Given the description of an element on the screen output the (x, y) to click on. 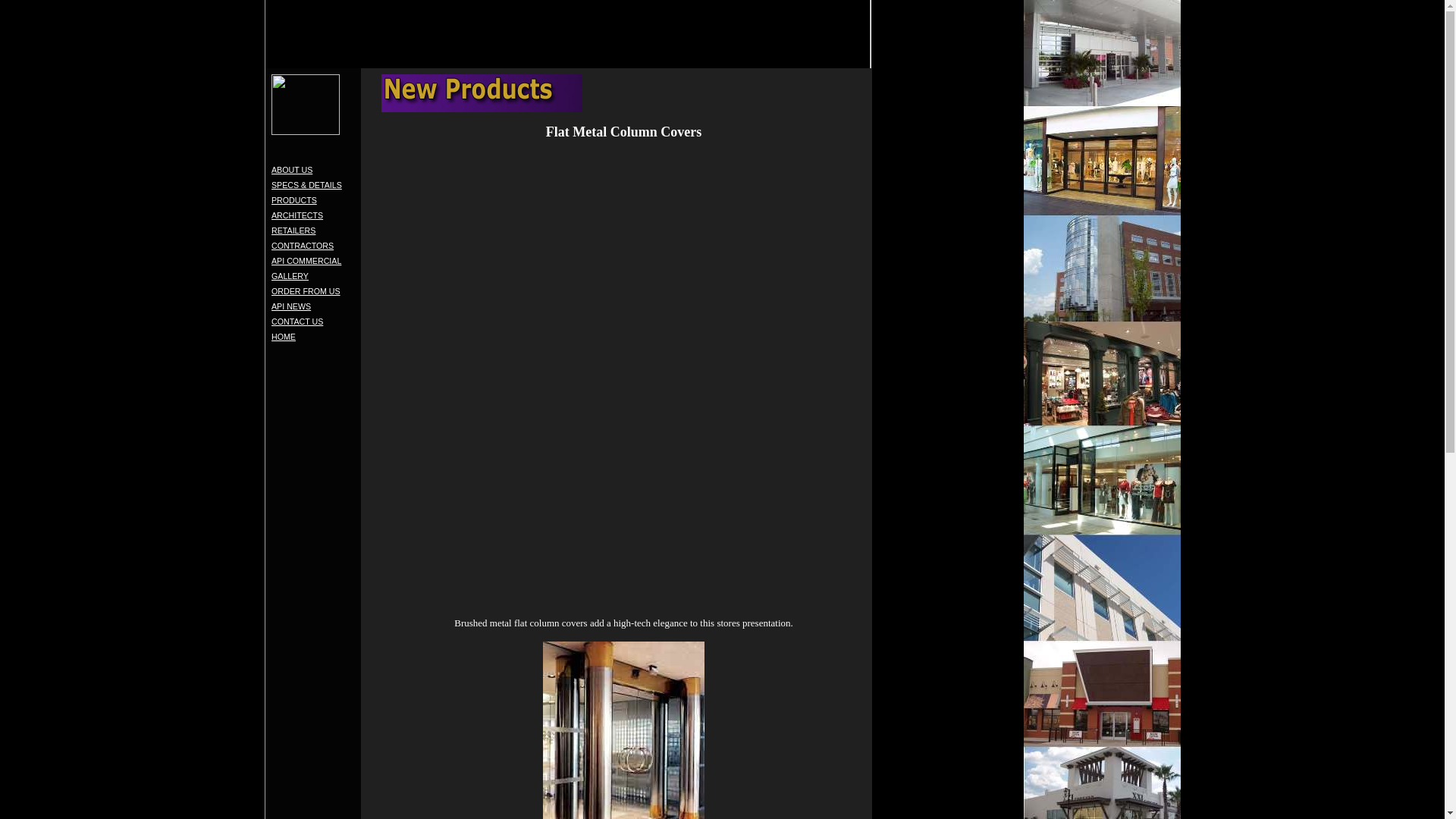
CONTACT US (296, 320)
HOME (282, 336)
ABOUT US (291, 177)
PRODUCTS (293, 199)
CONTRACTORS (301, 245)
API COMMERCIAL (305, 260)
API NEWS (290, 306)
ARCHITECTS (296, 215)
GALLERY (289, 275)
RETAILERS (292, 230)
ORDER FROM US (305, 290)
